Given the description of an element on the screen output the (x, y) to click on. 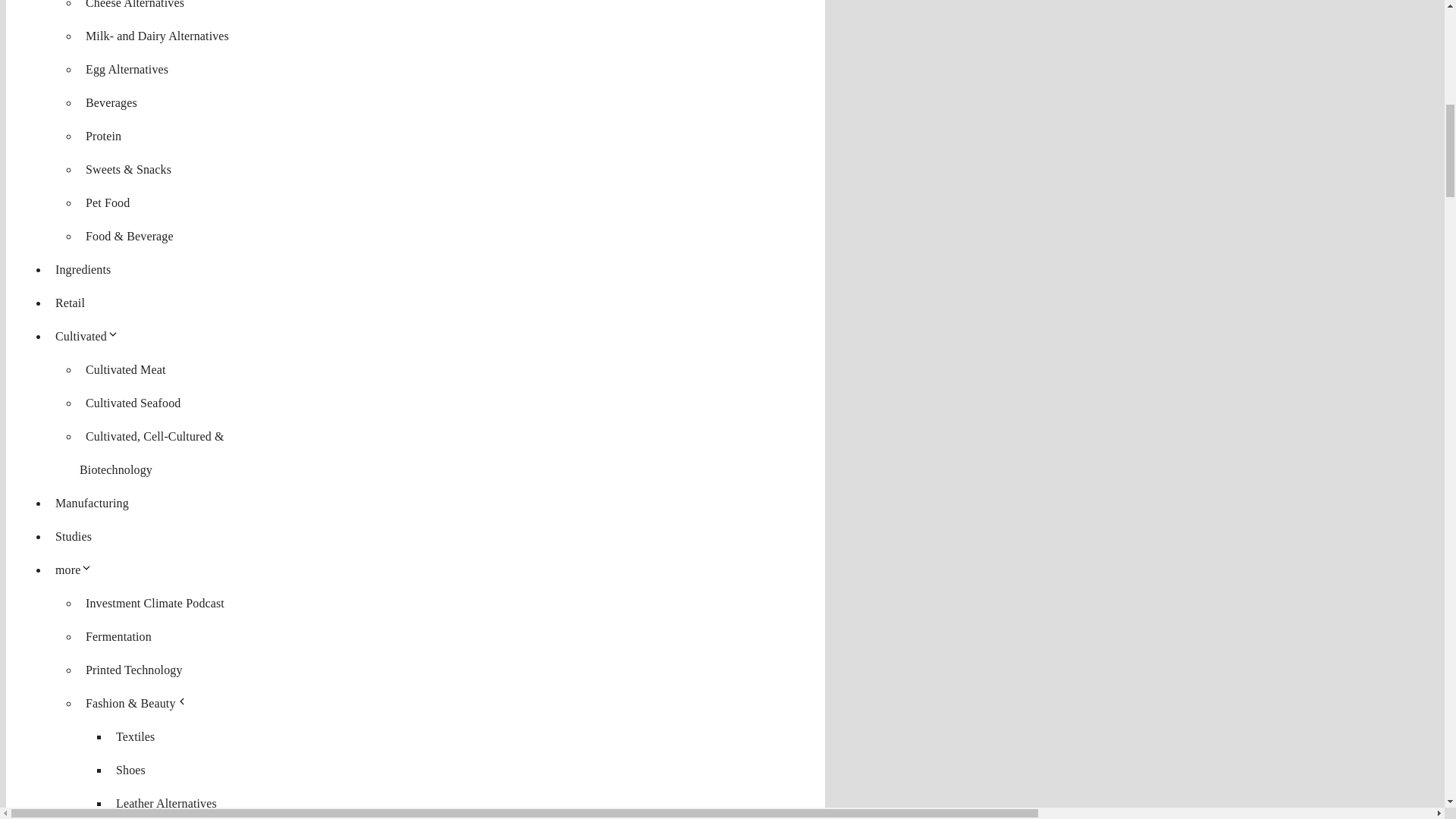
Protein (104, 136)
Beverages (111, 102)
Milk- and Dairy Alternatives (157, 35)
Cultivated Seafood (133, 402)
Manufacturing (92, 502)
Investment Climate Podcast (155, 603)
Egg Alternatives (127, 69)
more (76, 569)
Ingredients (82, 269)
Cultivated (90, 336)
Retail (69, 302)
Cheese Alternatives (135, 7)
Fermentation (118, 636)
Printed Technology (134, 669)
Studies (73, 535)
